Given the description of an element on the screen output the (x, y) to click on. 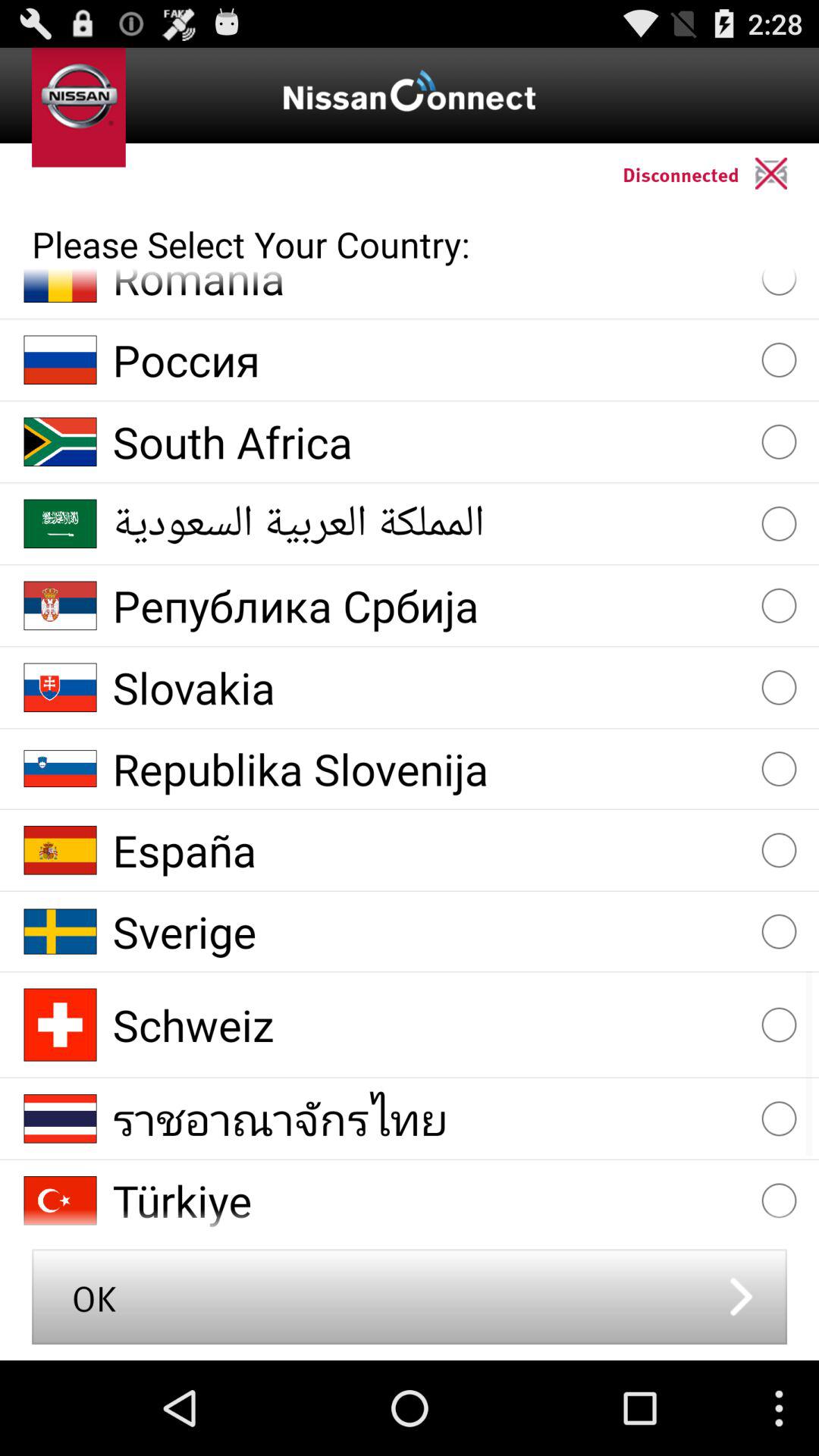
flip until the sverige icon (429, 931)
